Given the description of an element on the screen output the (x, y) to click on. 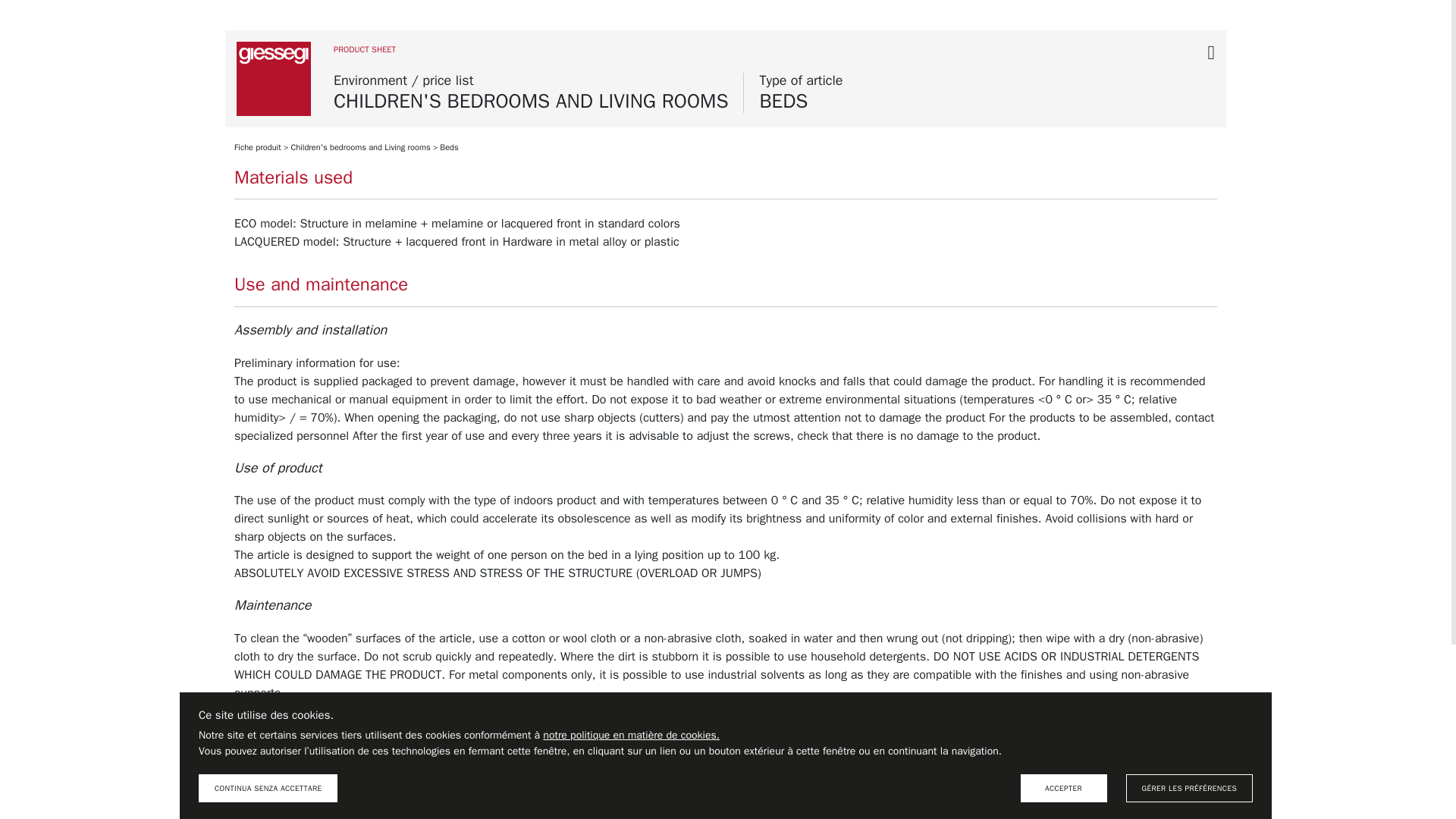
Fiche produit (257, 146)
CONTINUA SENZA ACCETTARE (267, 787)
ACCEPTER (1063, 787)
Children's bedrooms and Living rooms (359, 146)
